Given the description of an element on the screen output the (x, y) to click on. 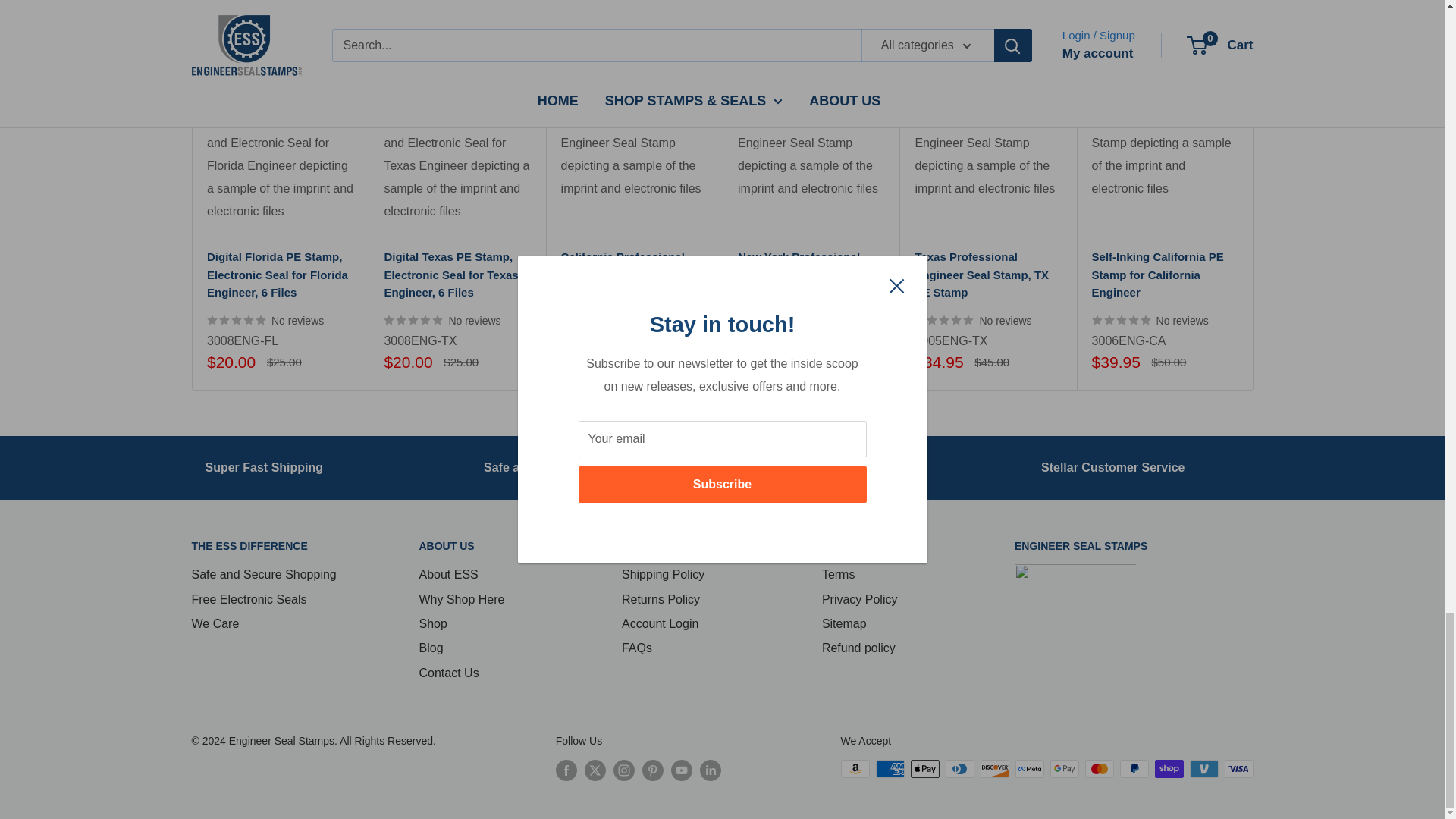
Safe and Secure Shopping (560, 467)
Contact Us (1113, 467)
Super-Fast Shipping (264, 467)
Free Electronic Seals (823, 467)
